Given the description of an element on the screen output the (x, y) to click on. 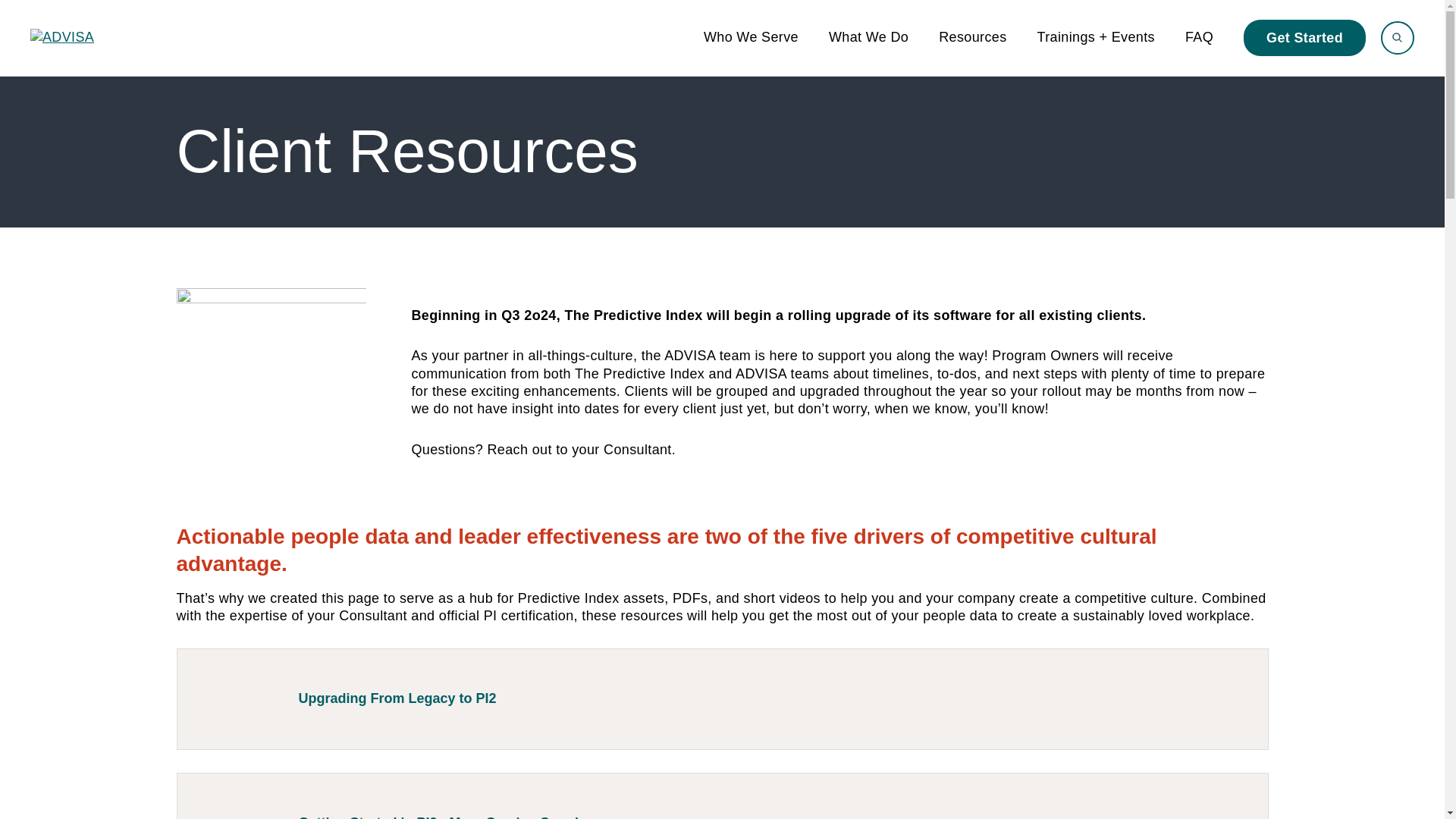
Upgrading From Legacy to PI2 (722, 699)
Toggle site search (1396, 37)
Get Started (1304, 37)
FAQ (1198, 37)
What We Do (868, 37)
Resources (972, 37)
Who We Serve (750, 37)
Getting Started in PI2 - More Coming Soon! (722, 796)
